Given the description of an element on the screen output the (x, y) to click on. 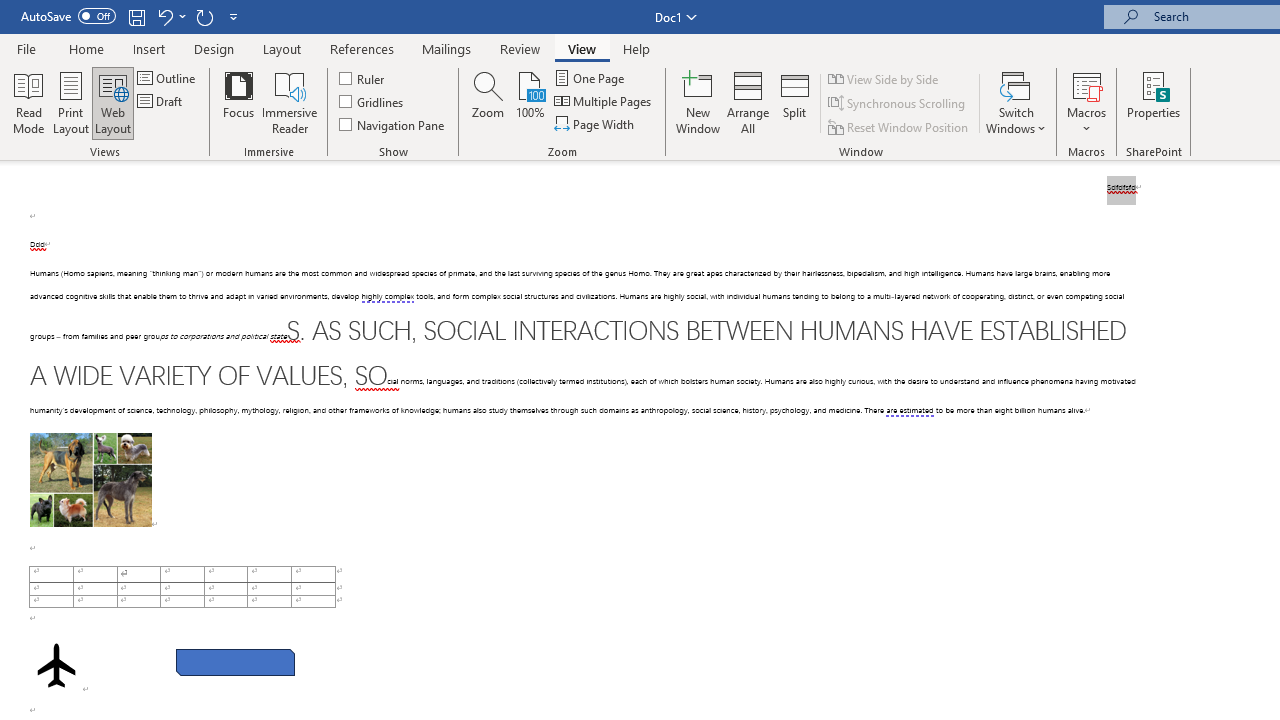
Gridlines (372, 101)
Undo Paragraph Alignment (170, 15)
Multiple Pages (603, 101)
New Window (698, 102)
Reset Window Position (900, 126)
Properties (1153, 102)
Split (795, 102)
